Given the description of an element on the screen output the (x, y) to click on. 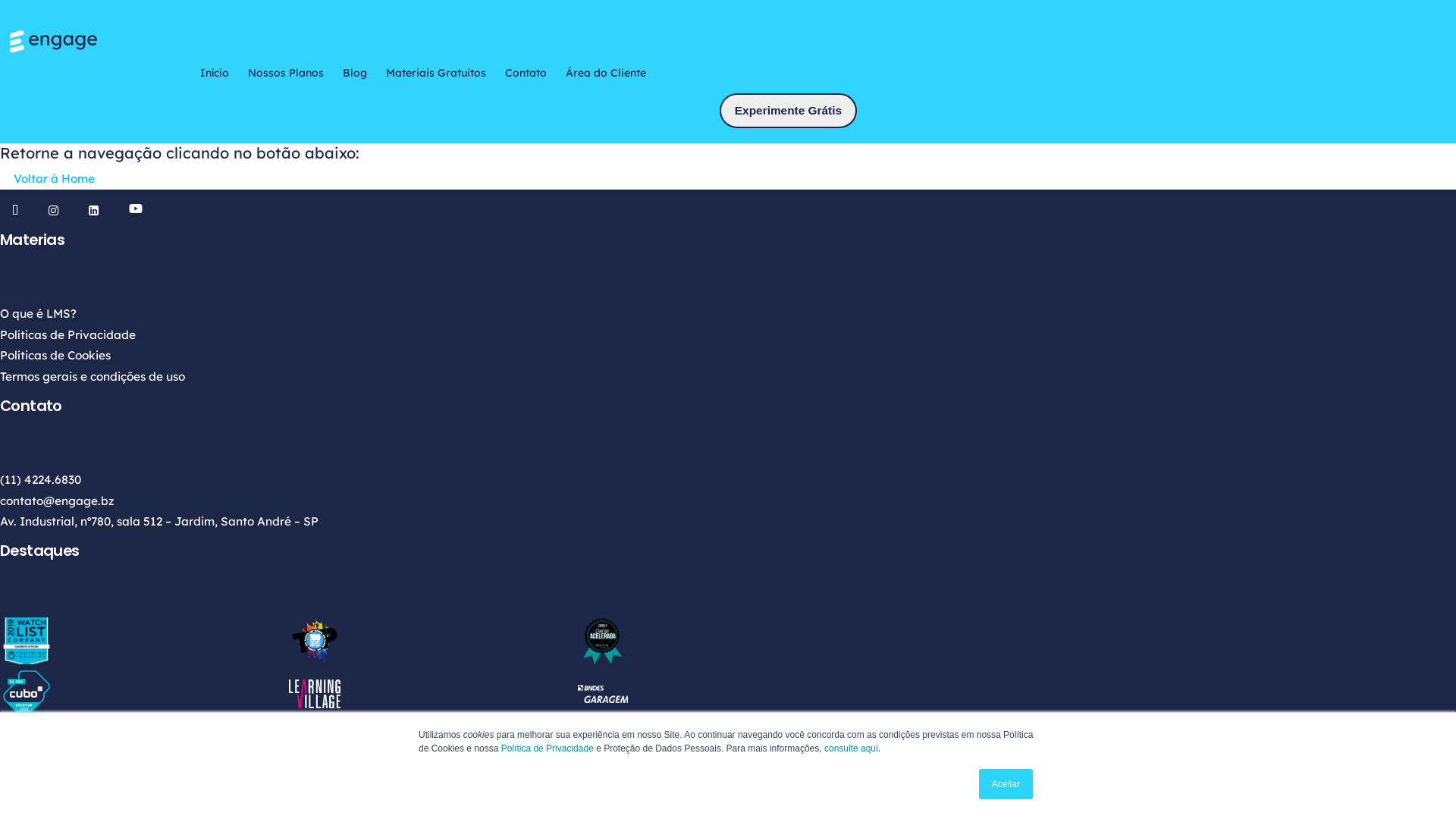
Aceitar Element type: text (1005, 783)
Blog Element type: text (354, 72)
Contato Element type: text (525, 72)
Materiais Gratuitos Element type: text (435, 72)
consulte aqui Element type: text (851, 748)
Nossos Planos Element type: text (285, 72)
Engage Element type: hover (431, 40)
